Given the description of an element on the screen output the (x, y) to click on. 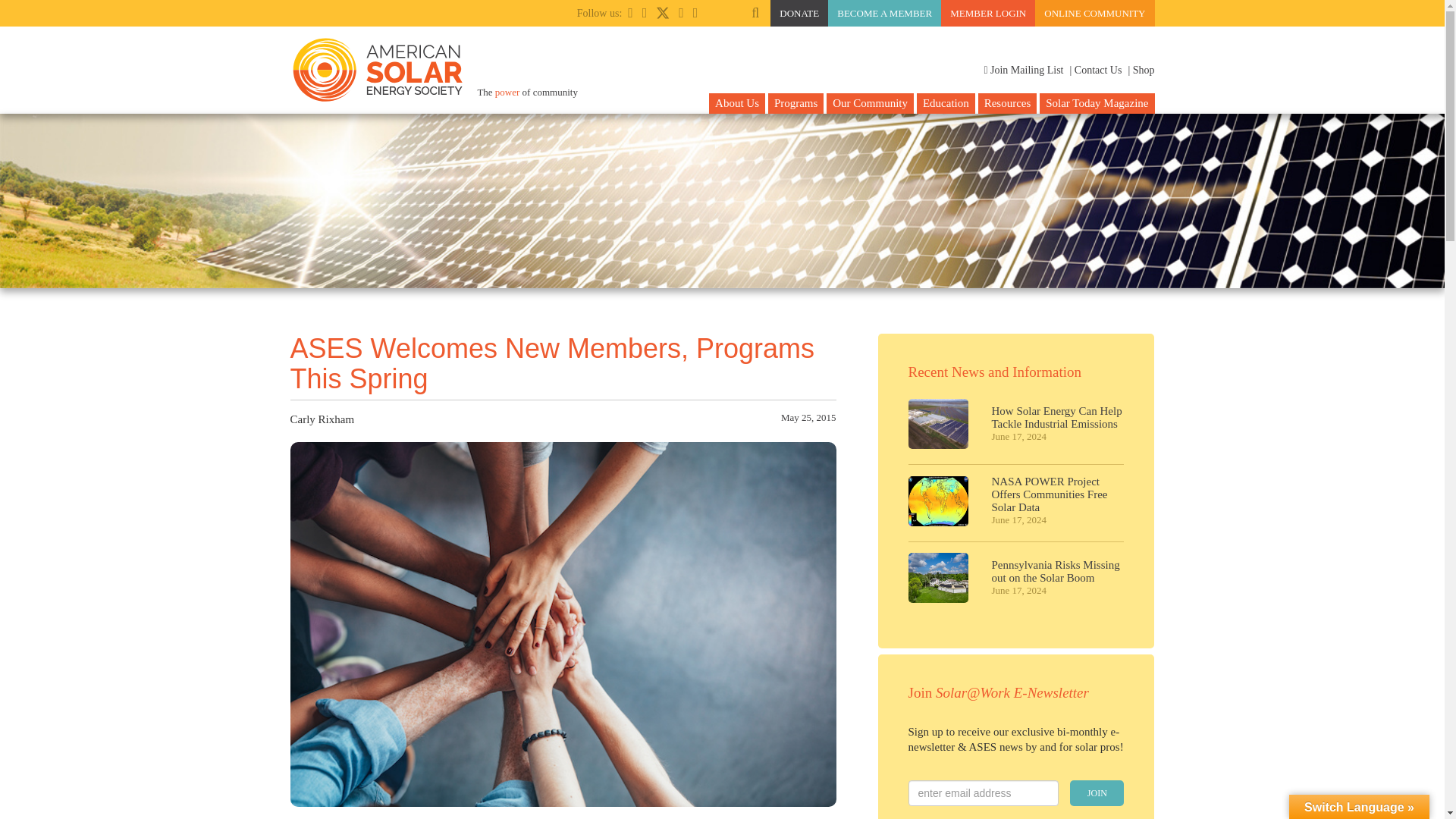
DONATE (799, 13)
Programs (796, 103)
BECOME A MEMBER (884, 13)
About Us (737, 103)
MEMBER LOGIN (987, 13)
Join Mailing List (1023, 70)
ONLINE COMMUNITY (1094, 13)
Our Community (870, 103)
